Given the description of an element on the screen output the (x, y) to click on. 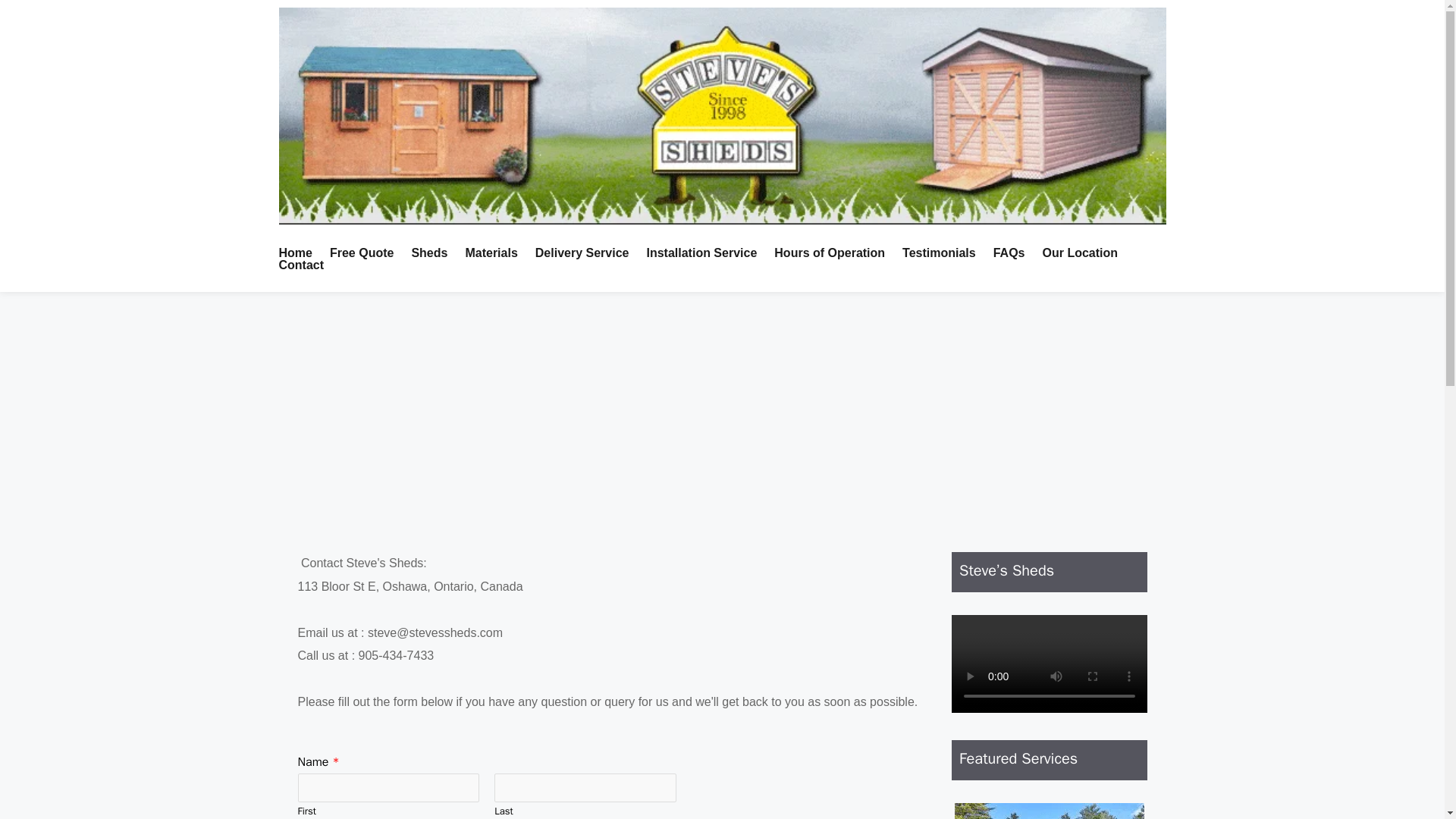
Our Location (1087, 253)
Hours of Operation (836, 253)
Delivery Service (589, 253)
Installation Service (708, 253)
Contact (308, 265)
905-434-7433 (395, 655)
Materials (497, 253)
FAQs (1015, 253)
Home (302, 253)
